Given the description of an element on the screen output the (x, y) to click on. 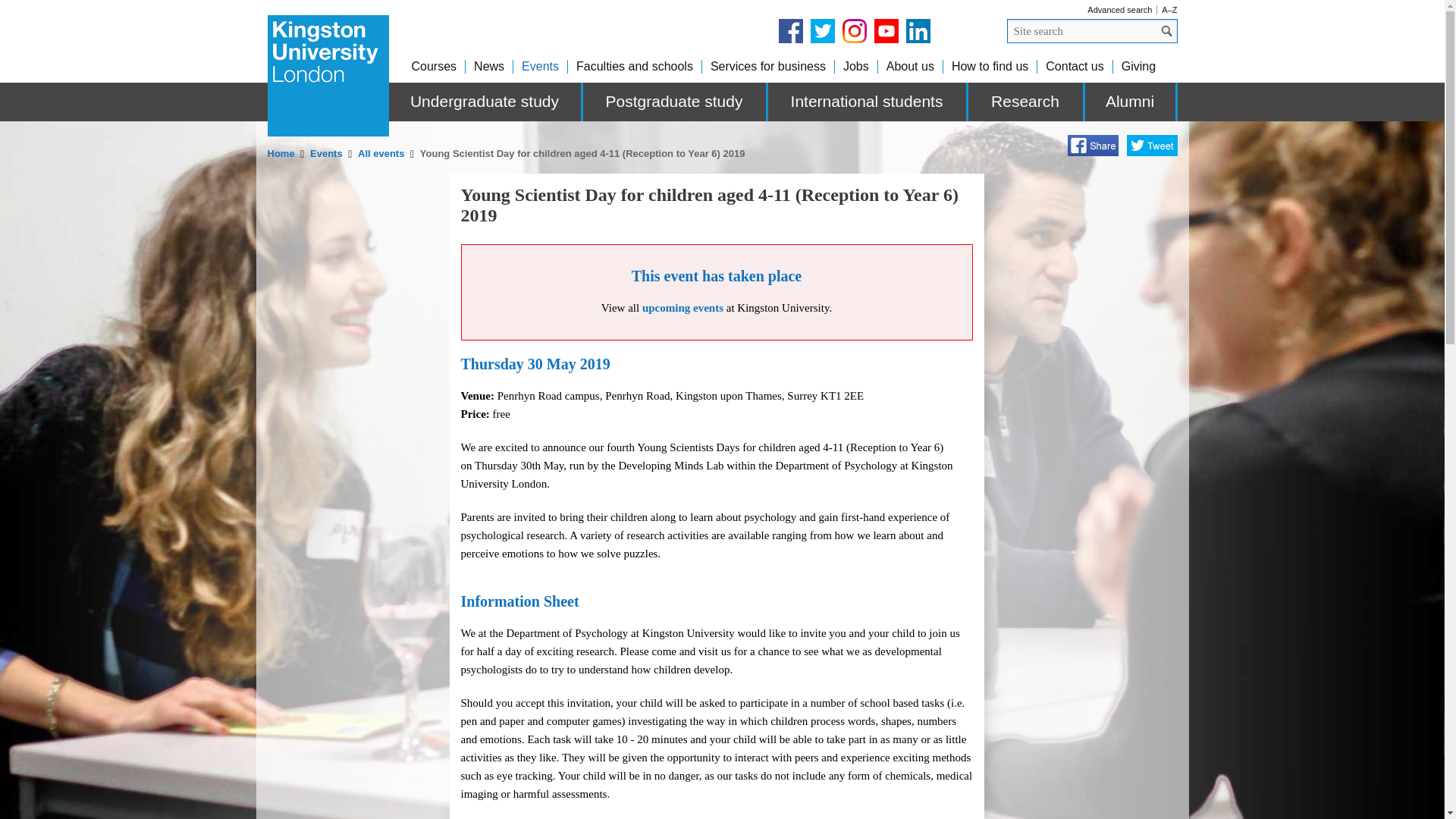
LinkedIn (917, 30)
Contact Kingston University London (1074, 65)
Search (1166, 30)
Events (540, 65)
Job vacancies at Kingston University London (856, 65)
News (488, 65)
How to find Kingston University London (989, 65)
News at Kingston University London (488, 65)
Postgraduate study (674, 101)
Search (1166, 30)
Faculties and schools (634, 65)
Giving (1138, 65)
Home (281, 153)
Services for business (767, 65)
